Given the description of an element on the screen output the (x, y) to click on. 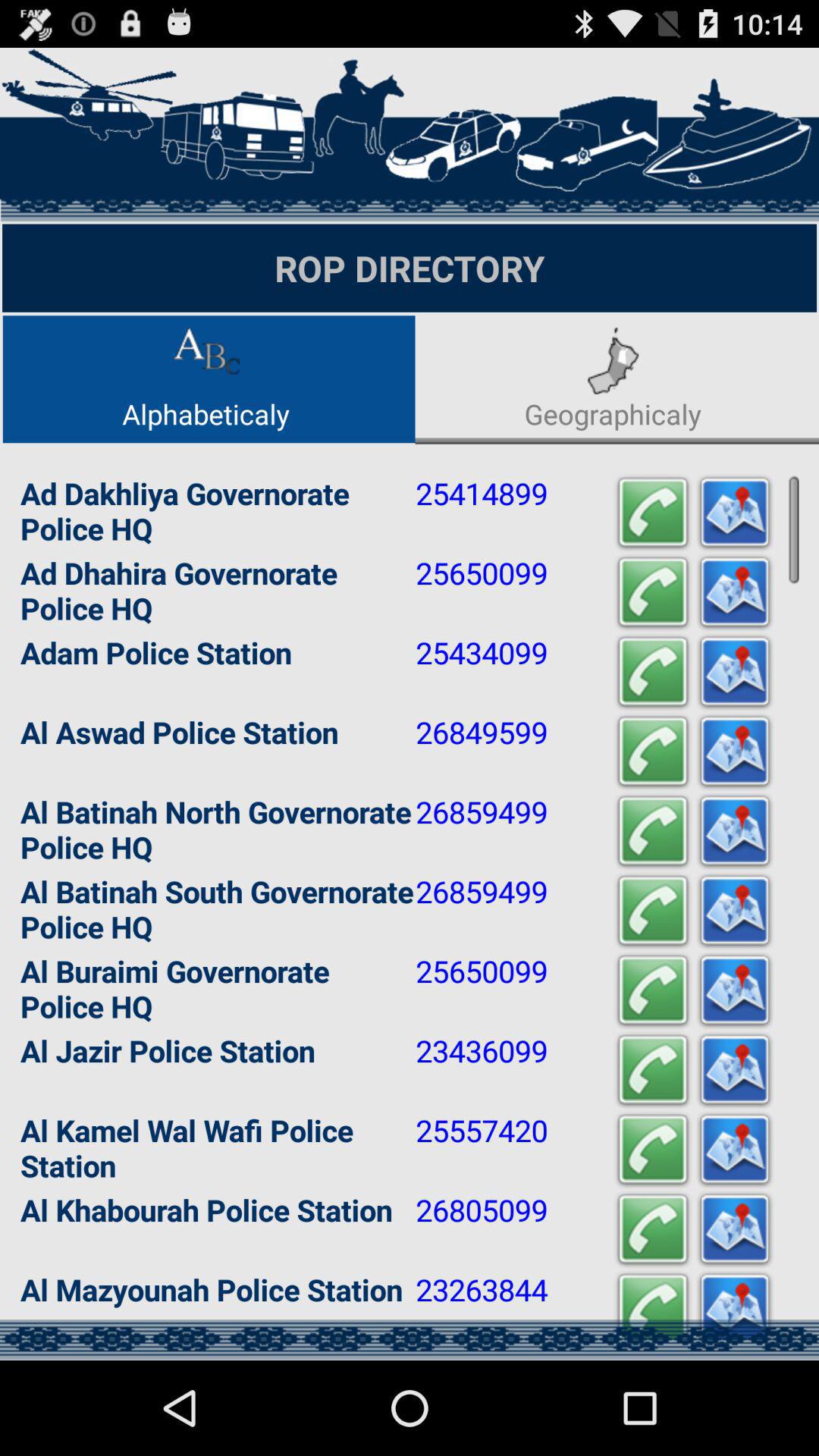
call this number (652, 831)
